Given the description of an element on the screen output the (x, y) to click on. 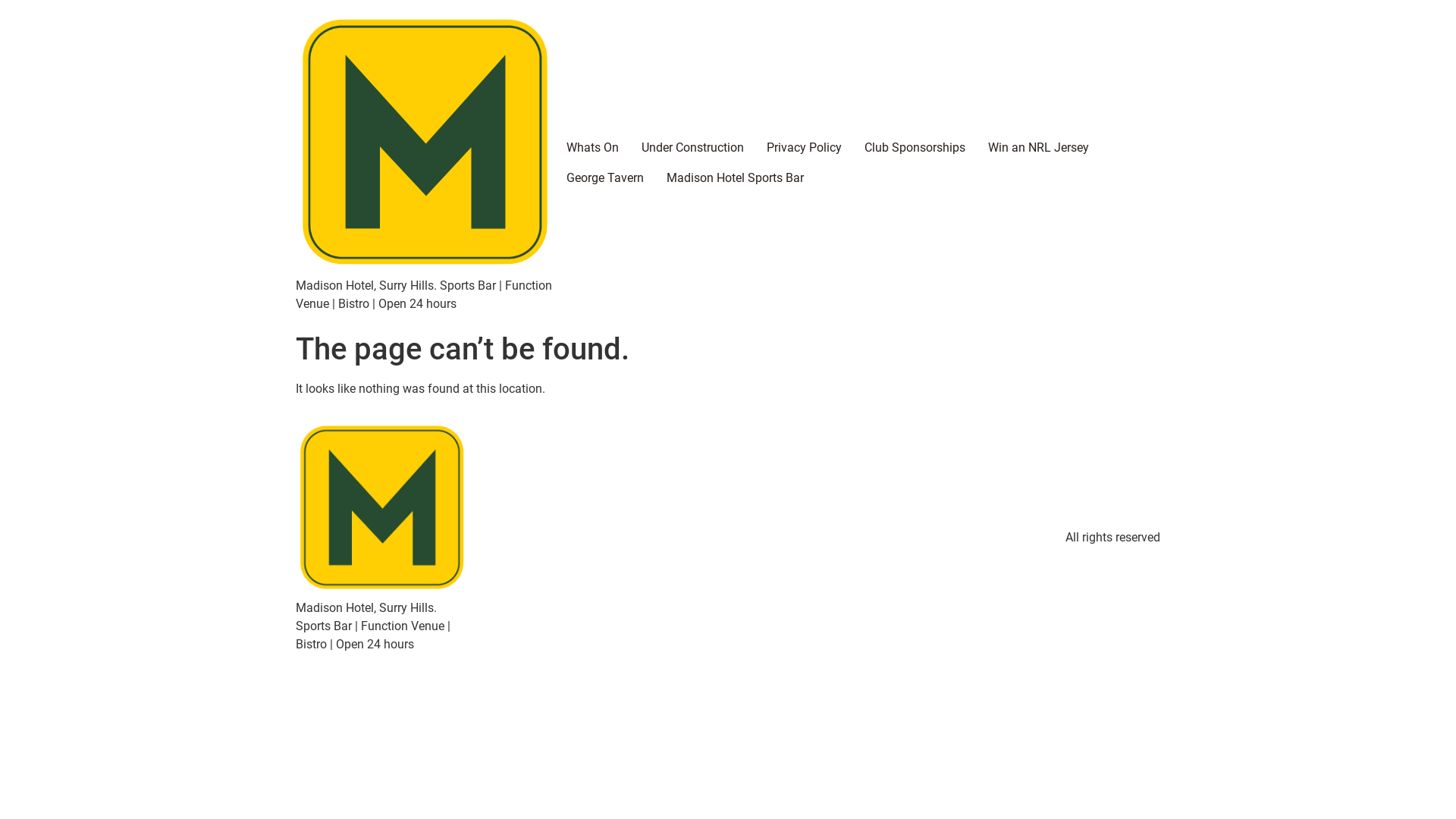
George Tavern Element type: text (605, 177)
Whats On Element type: text (592, 146)
Club Sponsorships Element type: text (914, 146)
Under Construction Element type: text (692, 146)
Madison Hotel Sports Bar Element type: text (735, 177)
Privacy Policy Element type: text (804, 146)
Win an NRL Jersey Element type: text (1038, 146)
